Given the description of an element on the screen output the (x, y) to click on. 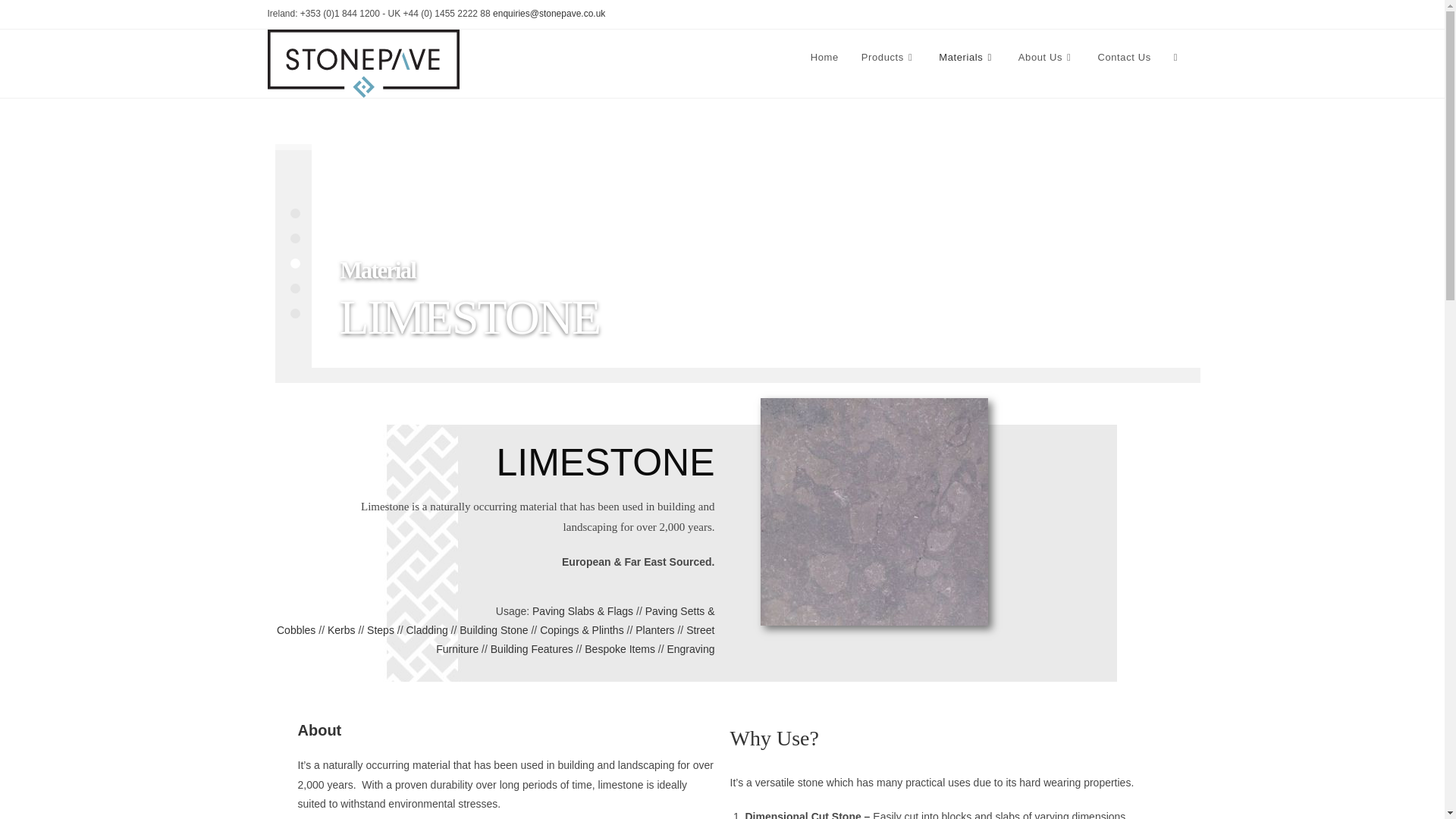
Products (888, 57)
Materials (967, 57)
About Us (1046, 57)
Home (824, 57)
